Given the description of an element on the screen output the (x, y) to click on. 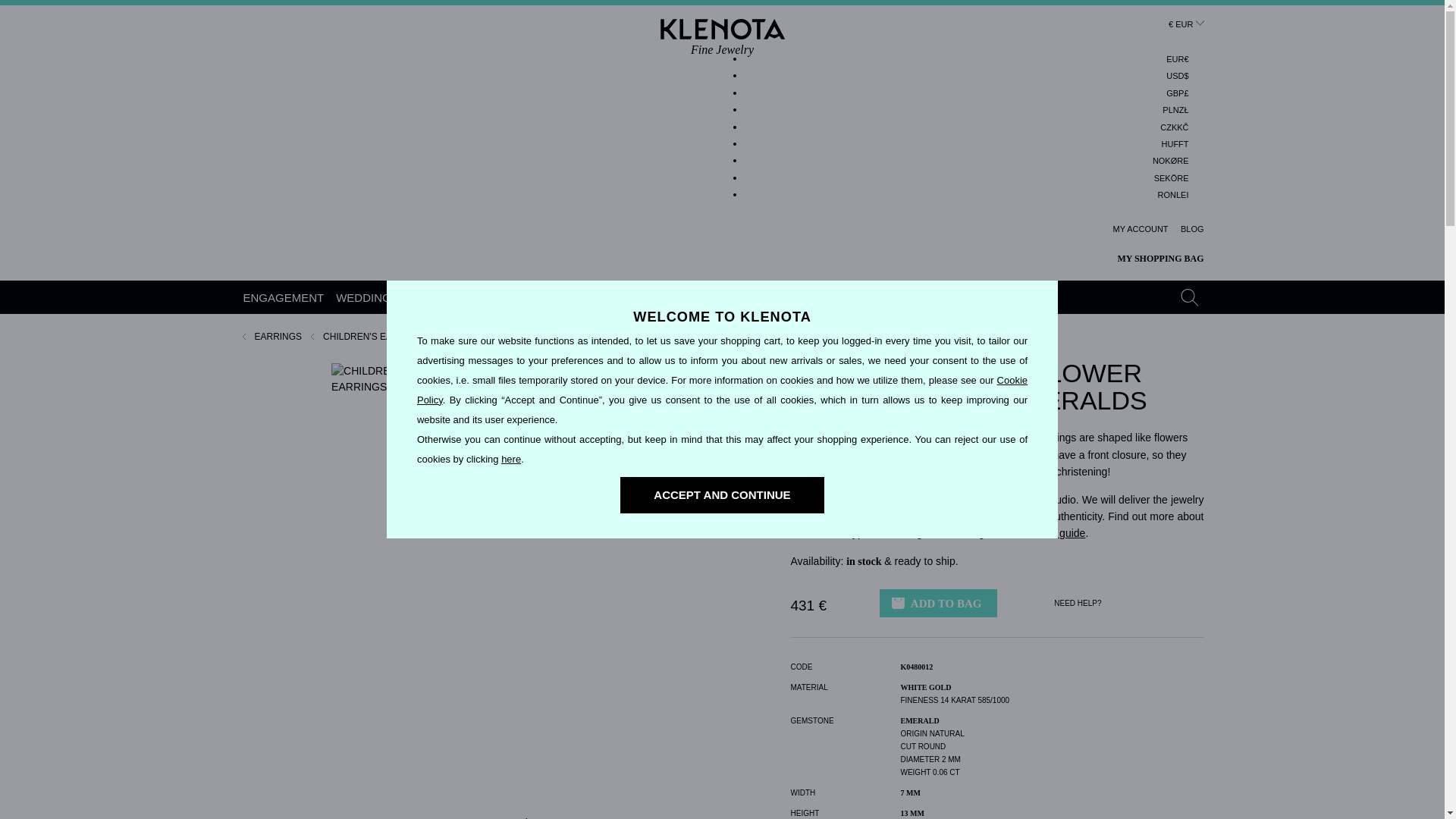
MY SHOPPING BAG (1150, 258)
MY ACCOUNT (1141, 228)
Children's Gold Flower Earrings with Emeralds (1173, 195)
BLOG (283, 296)
